Given the description of an element on the screen output the (x, y) to click on. 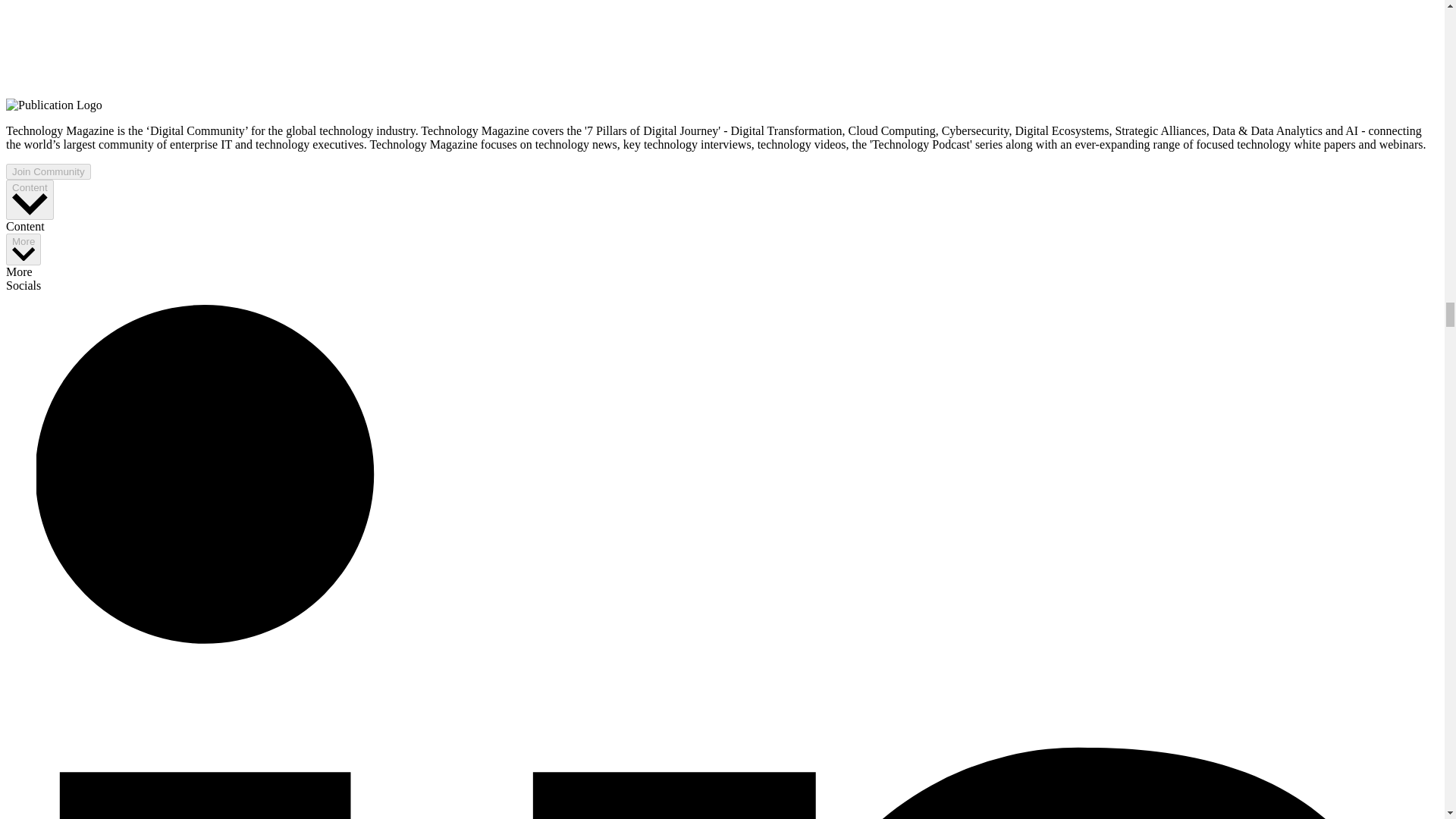
Join Community (47, 171)
More (22, 249)
Content (29, 199)
